Given the description of an element on the screen output the (x, y) to click on. 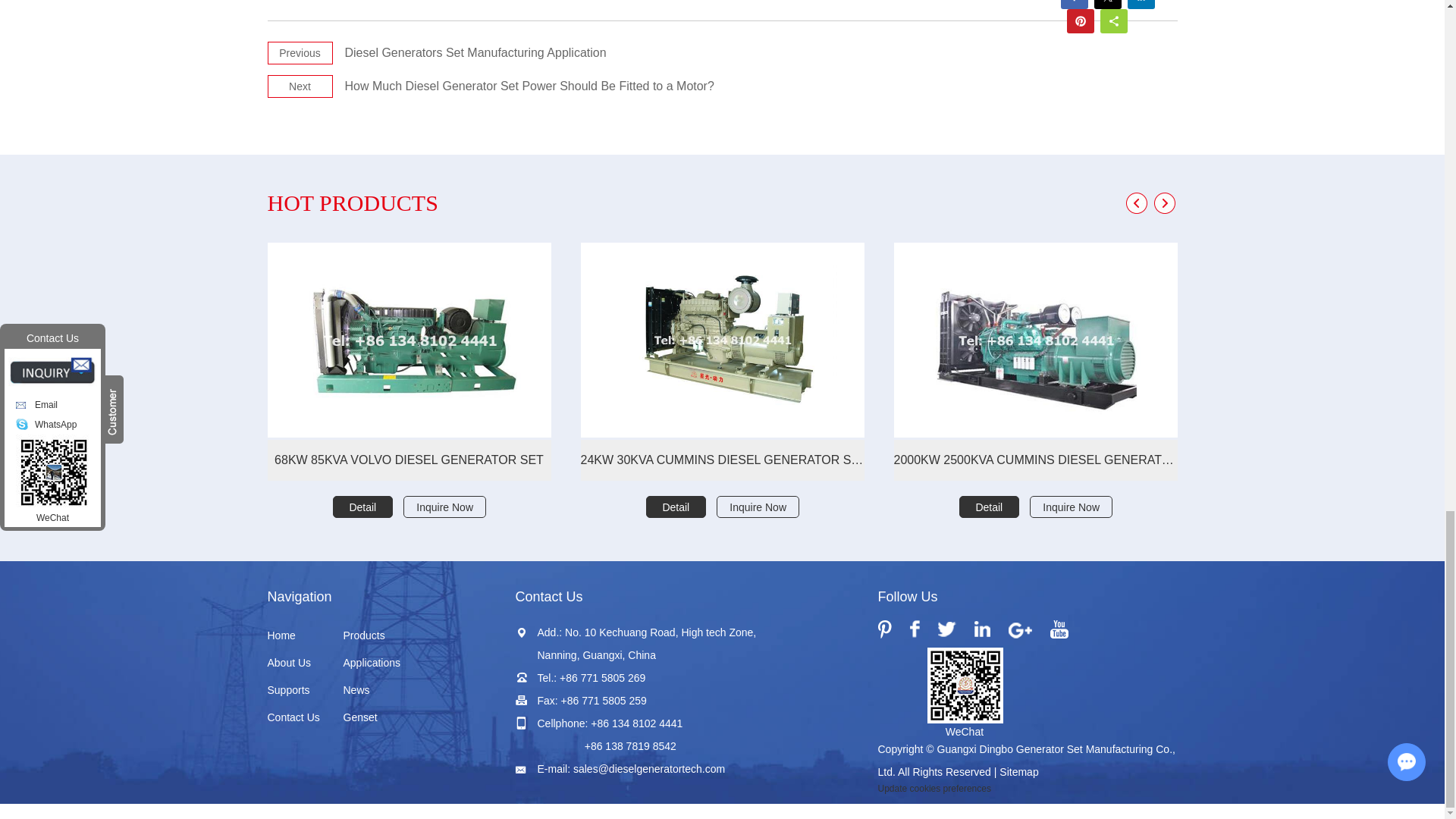
68KW 85KVA Volvo Diesel Generator Set (408, 339)
24KW 30KVA Cummins Diesel Generator Set (722, 339)
68KW 85KVA Volvo Diesel Generator Set (408, 459)
